Given the description of an element on the screen output the (x, y) to click on. 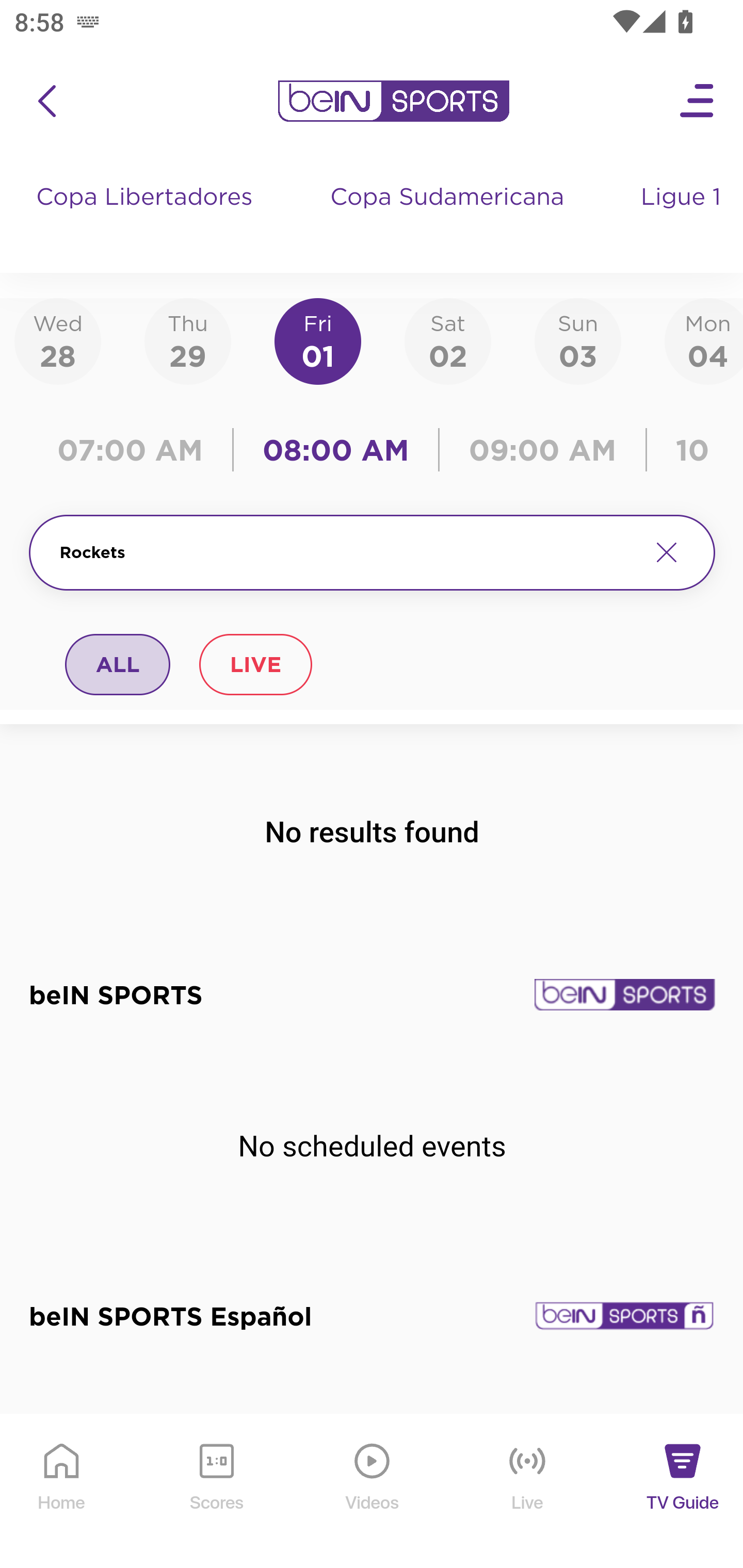
en-us?platform=mobile_android bein logo (392, 101)
icon back (46, 101)
Open Menu Icon (697, 101)
Copa Libertadores (146, 216)
Copa Sudamericana (448, 216)
Ligue 1 (682, 216)
Wed28 (58, 340)
Thu29 (187, 340)
Fri01 (318, 340)
Sat02 (447, 340)
Sun03 (578, 340)
Mon04 (703, 340)
07:00 AM (135, 449)
08:00 AM (336, 449)
09:00 AM (542, 449)
Rockets (346, 552)
ALL (118, 663)
LIVE (255, 663)
Home Home Icon Home (61, 1491)
Scores Scores Icon Scores (216, 1491)
Videos Videos Icon Videos (372, 1491)
TV Guide TV Guide Icon TV Guide (682, 1491)
